Given the description of an element on the screen output the (x, y) to click on. 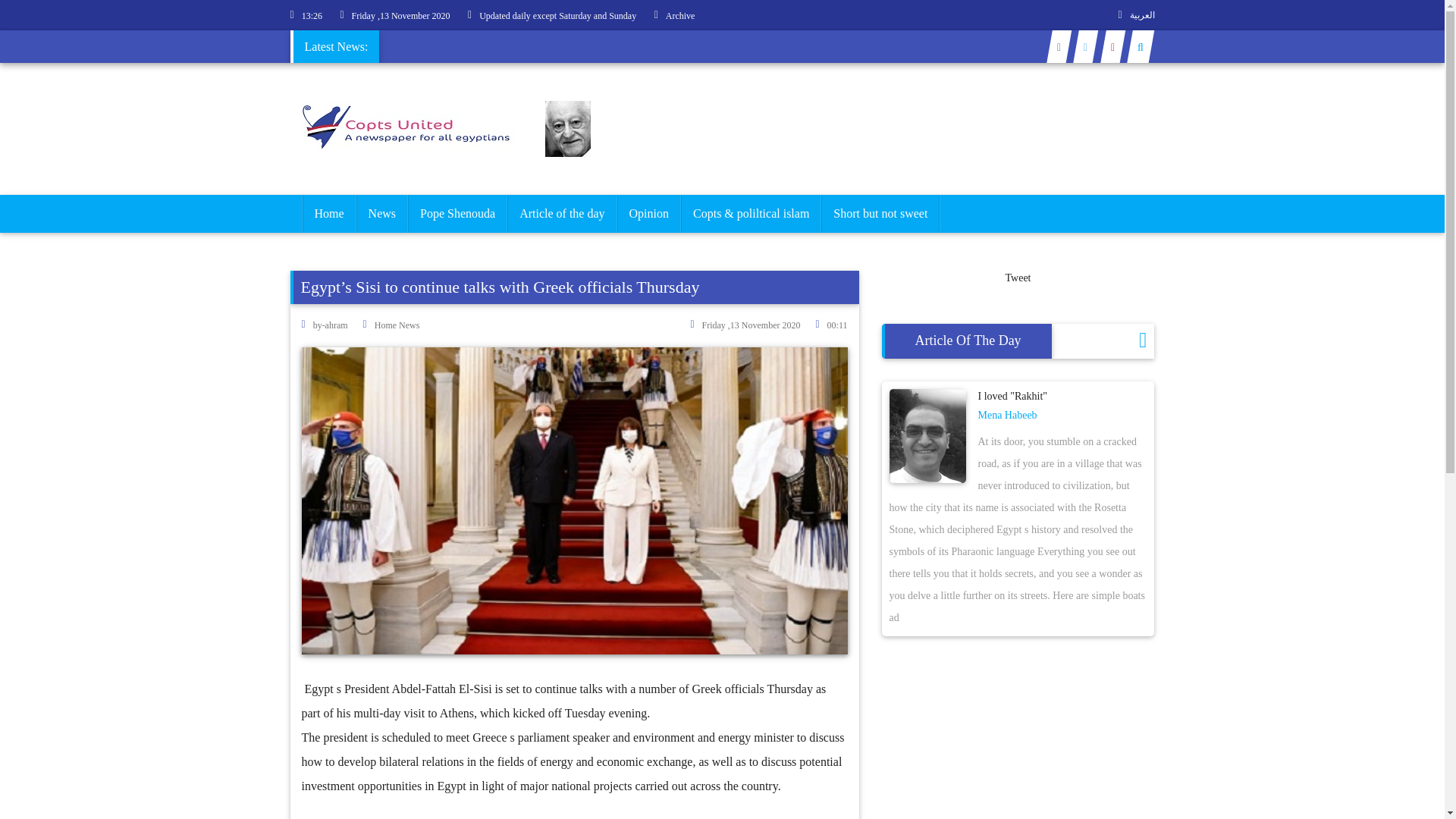
Home (328, 213)
Pope Shenouda (457, 213)
News (381, 213)
Article of the day (561, 213)
Tweet (1017, 278)
Short but not sweet (880, 213)
Opinion (648, 213)
